Given the description of an element on the screen output the (x, y) to click on. 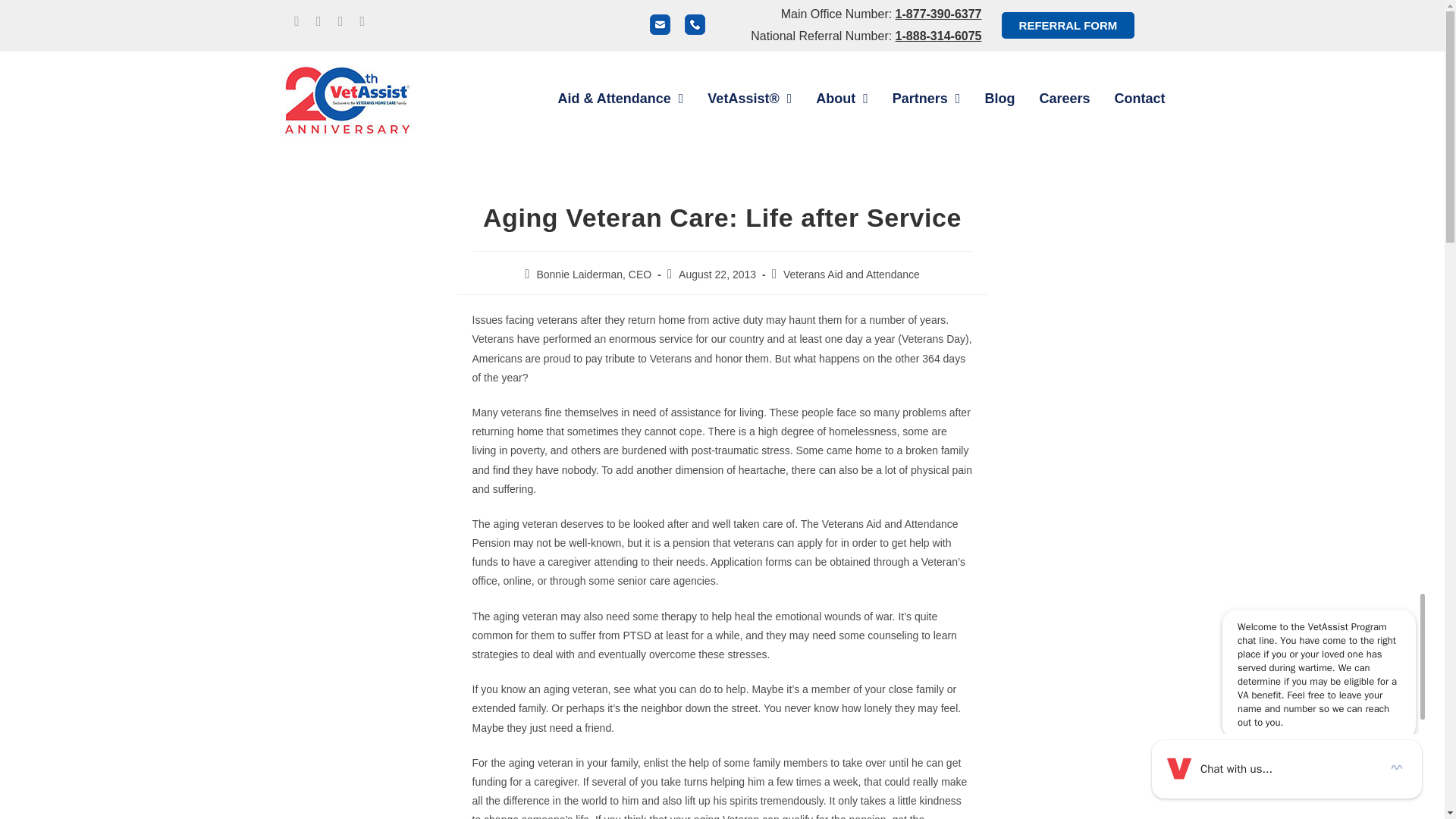
Posts by Bonnie Laiderman, CEO (592, 274)
1-888-314-6075 (938, 35)
About (842, 98)
Careers (1064, 98)
REFERRAL FORM (1068, 25)
Contact (1140, 98)
Partners (926, 98)
1-877-390-6377 (938, 13)
Live Chat Messages (1322, 656)
Blog (999, 98)
Live Chat Trigger (1286, 768)
